Given the description of an element on the screen output the (x, y) to click on. 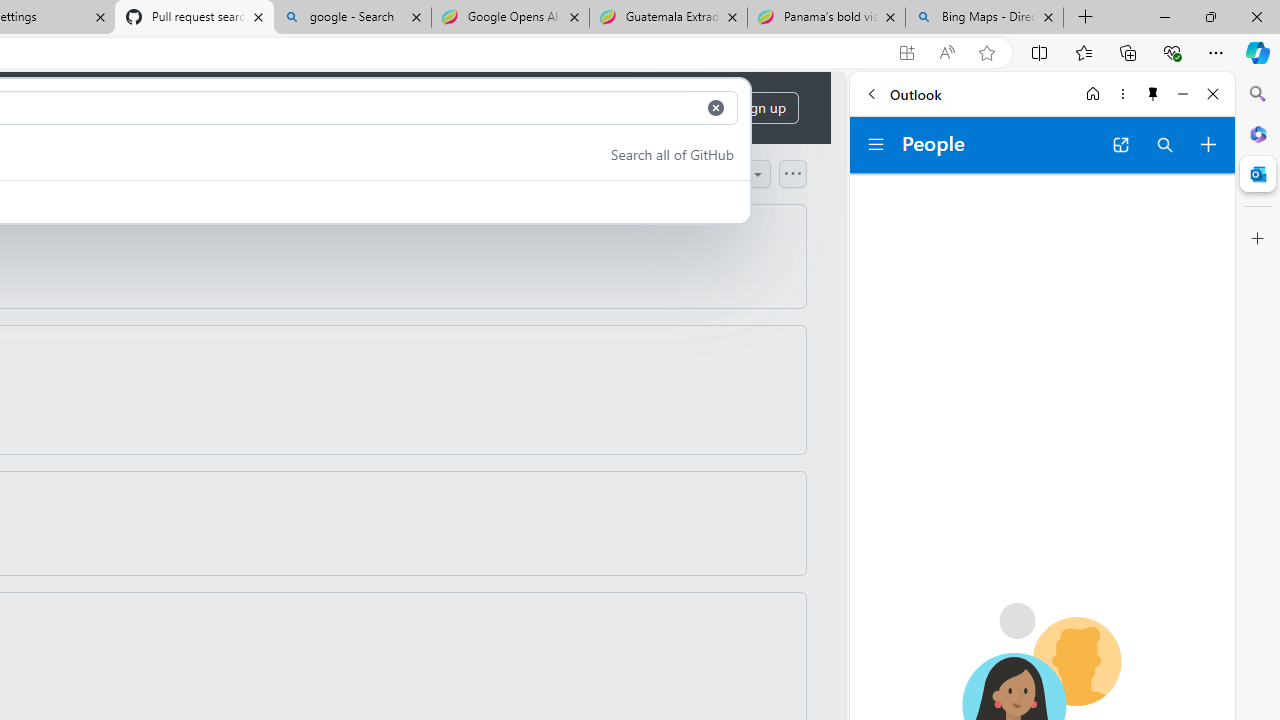
Create new contact (1208, 144)
Open in new tab (1120, 144)
